Given the description of an element on the screen output the (x, y) to click on. 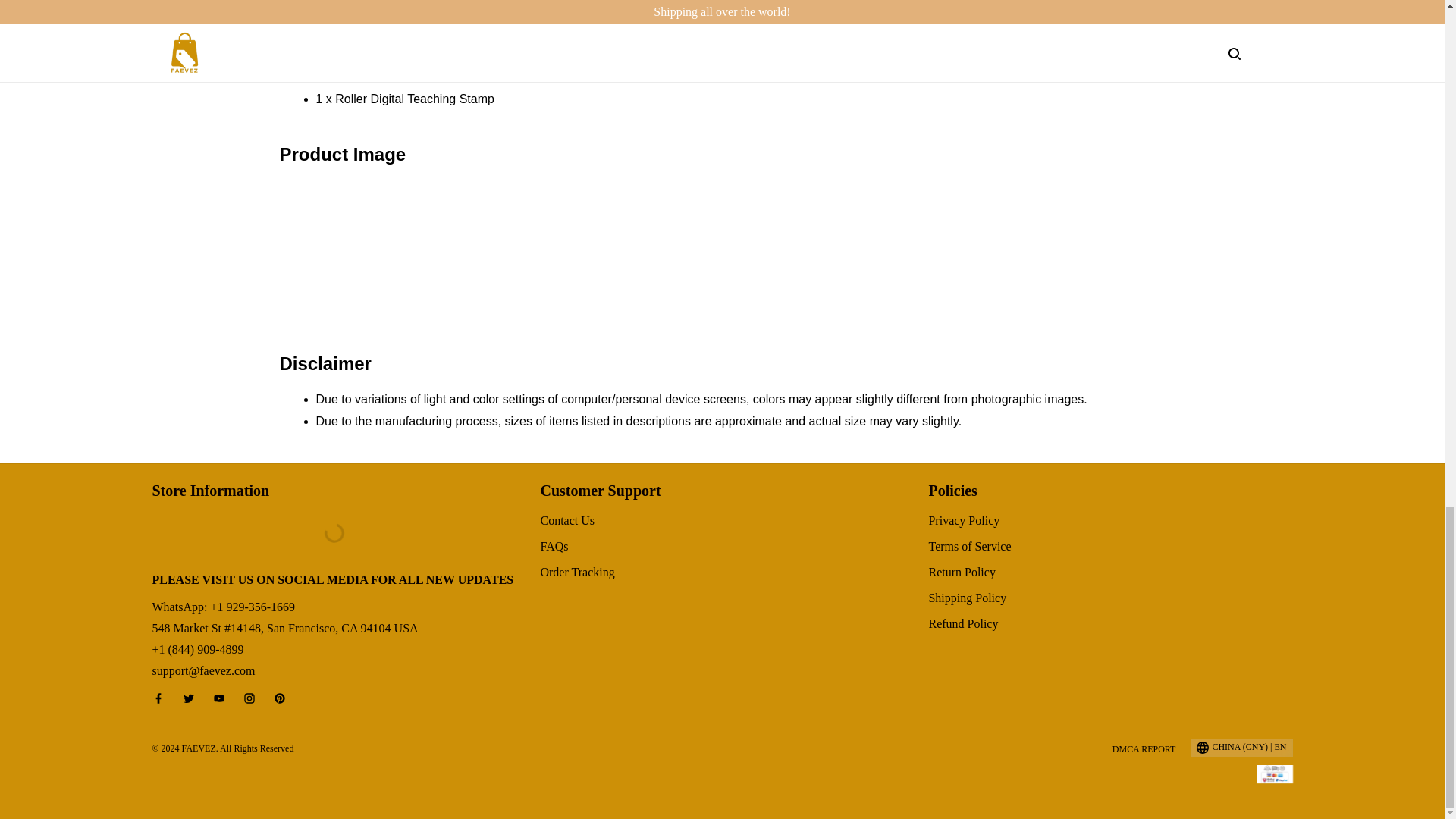
DMCA REPORT (1144, 748)
Refund Policy (962, 623)
Order Tracking (577, 571)
FAQs (553, 545)
Return Policy (961, 571)
Contact Us (567, 520)
Shipping Policy (967, 597)
Terms of Service (969, 545)
Privacy Policy (963, 520)
